Given the description of an element on the screen output the (x, y) to click on. 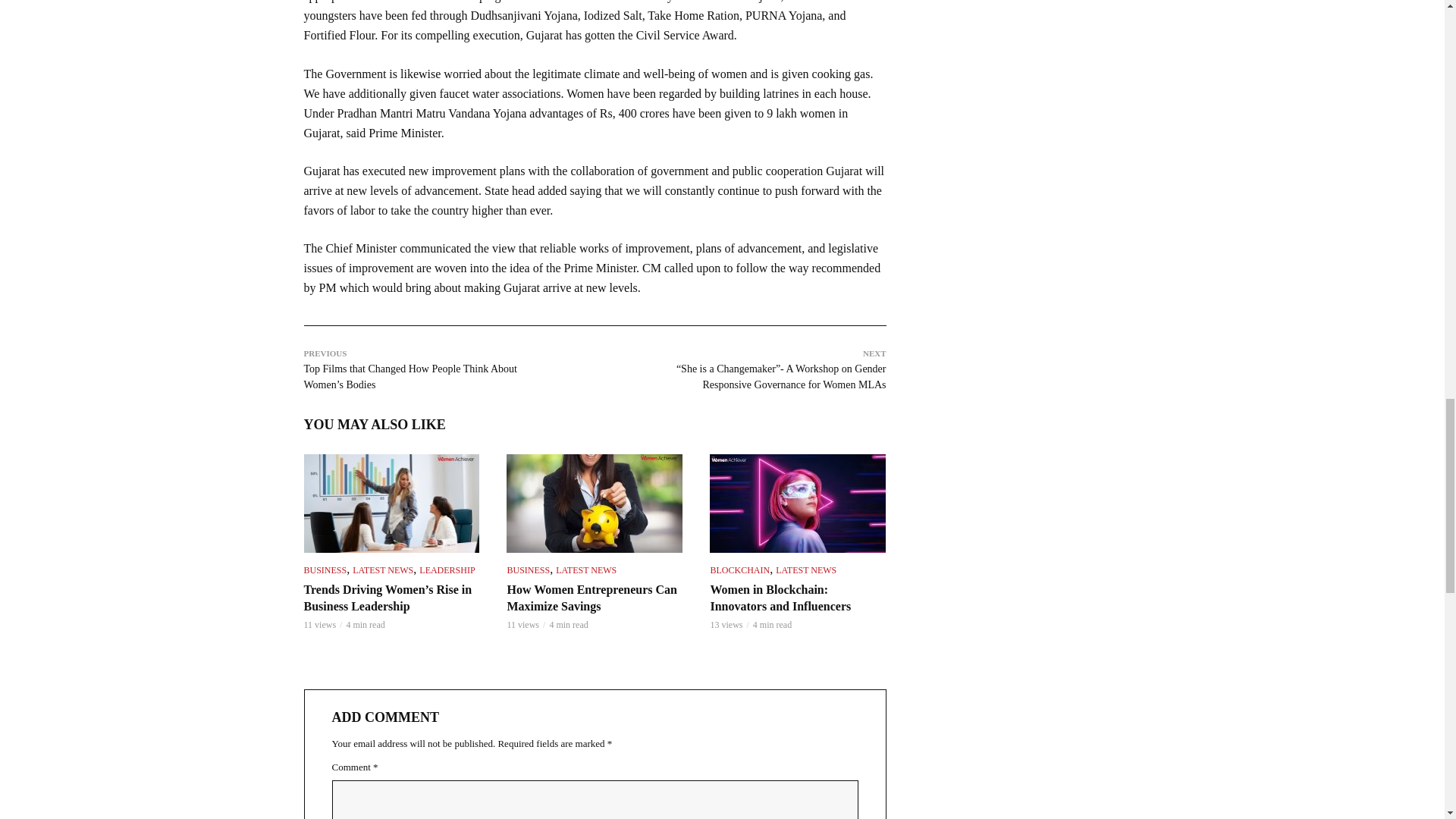
How Women Entrepreneurs Can Maximize Savings (594, 503)
Women in Blockchain: Innovators and Influencers (797, 503)
